Given the description of an element on the screen output the (x, y) to click on. 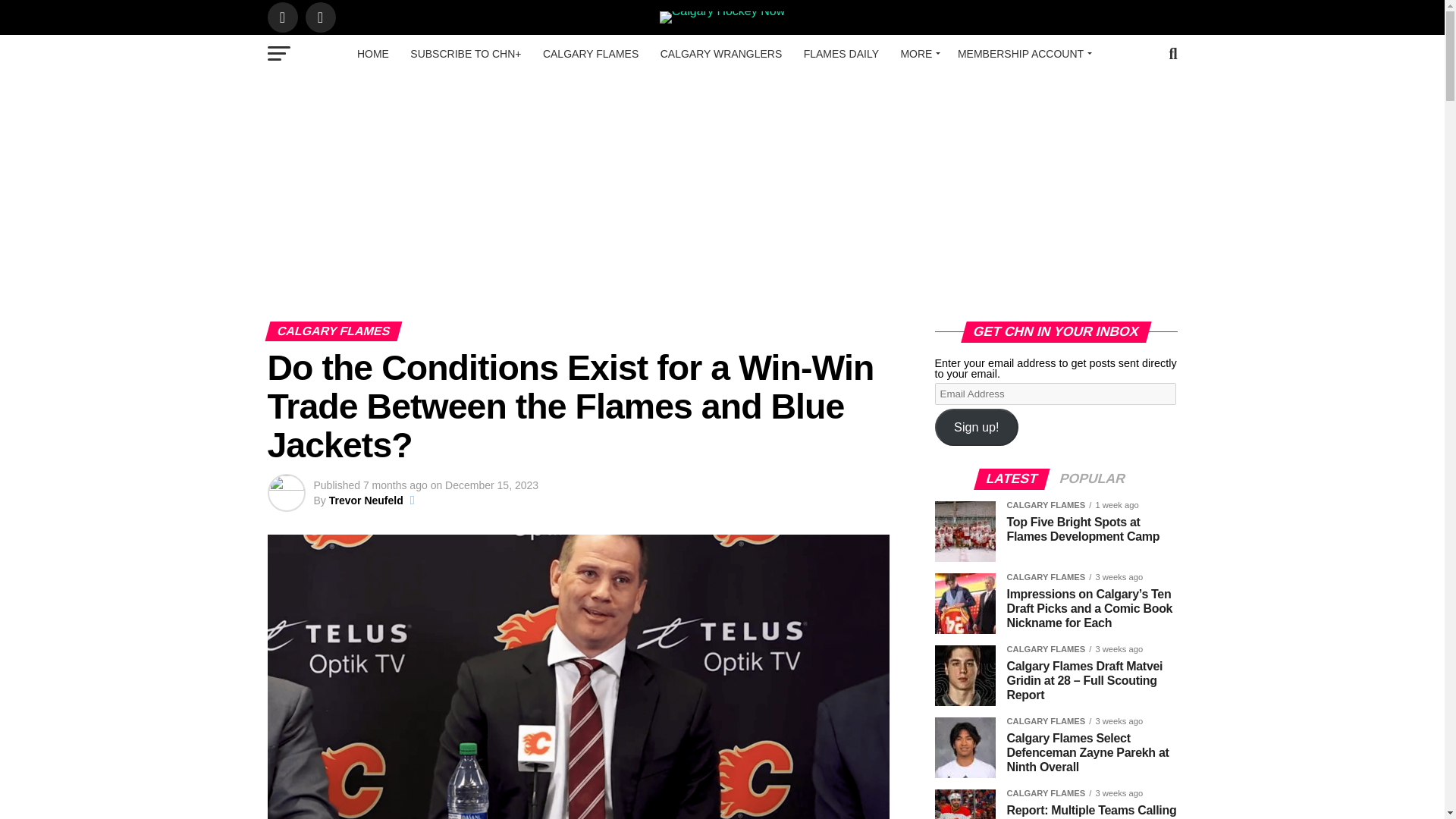
Posts by Trevor Neufeld (366, 500)
